Given the description of an element on the screen output the (x, y) to click on. 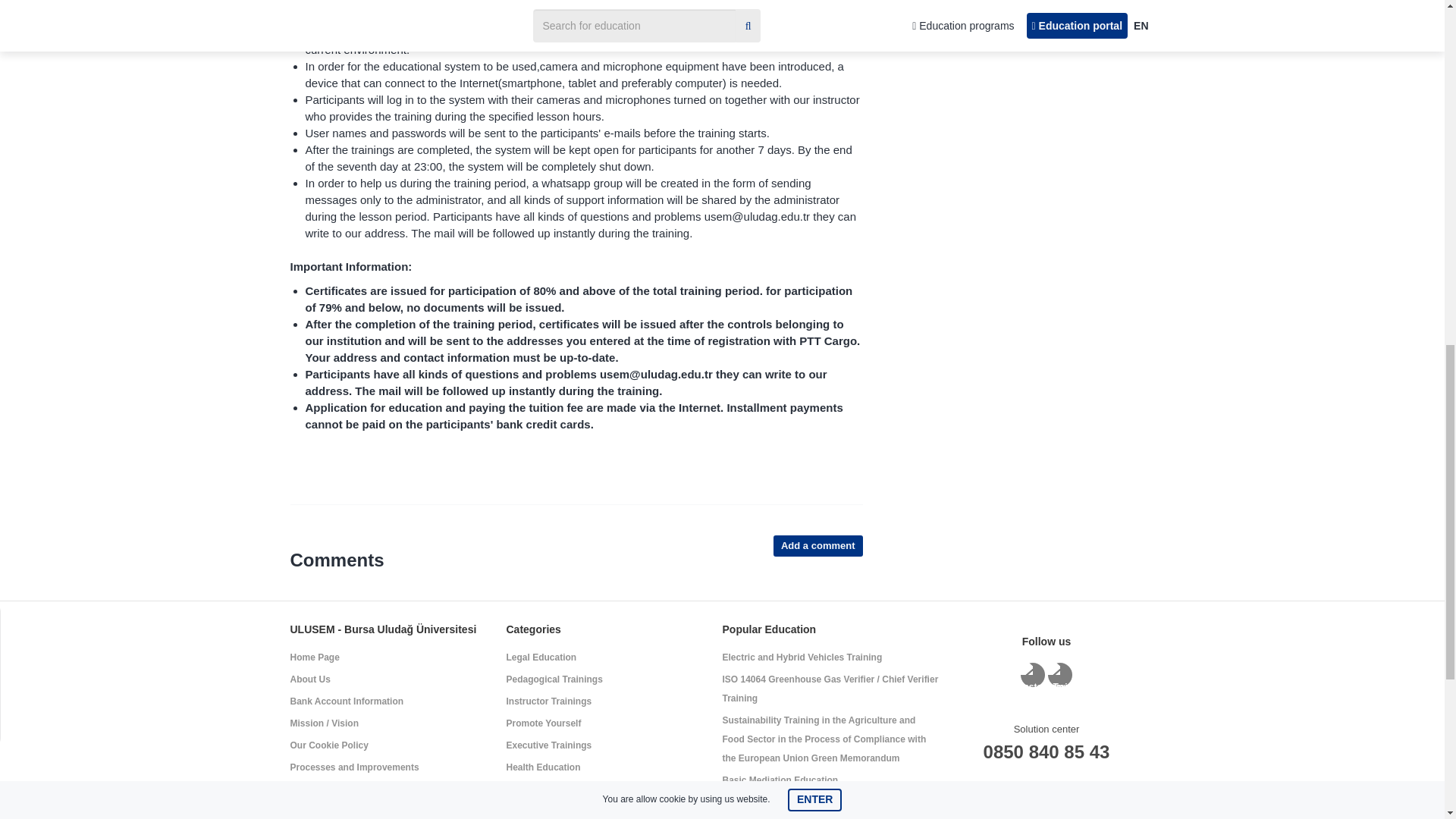
About Us (309, 679)
Add a comment (818, 545)
Our Cookie Policy (328, 745)
Home Page (314, 656)
Bank Account Information (346, 701)
Processes and Improvements (354, 767)
